Given the description of an element on the screen output the (x, y) to click on. 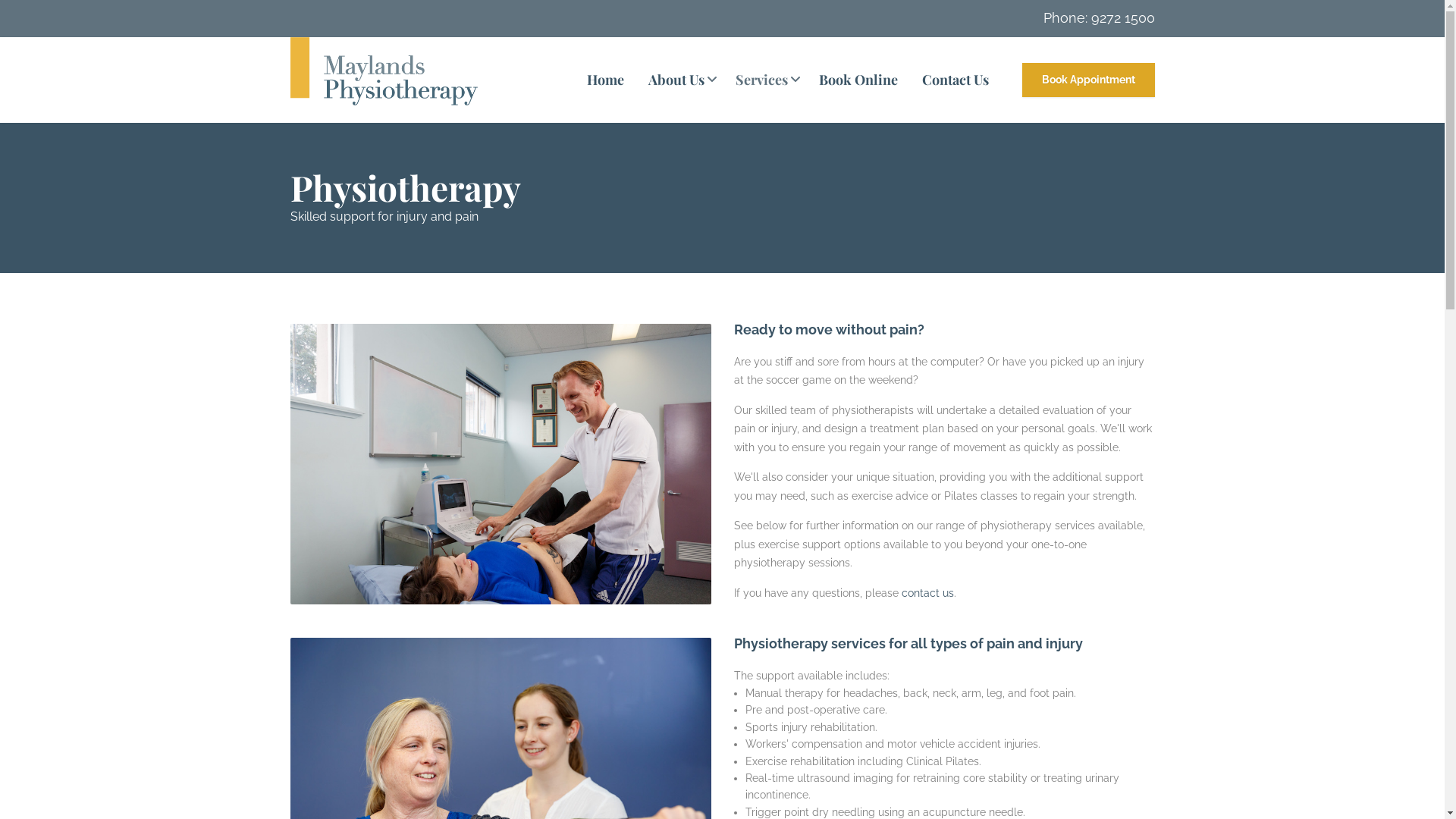
contact us Element type: text (926, 592)
Book Appointment Element type: text (1088, 79)
About Us Element type: text (679, 79)
Contact Us Element type: text (955, 79)
Services Element type: text (764, 79)
Book Online Element type: text (858, 79)
Maylands Physiotherapy Element type: hover (383, 79)
Phone: 9272 1500 Element type: text (1098, 18)
Home Element type: text (605, 79)
